Given the description of an element on the screen output the (x, y) to click on. 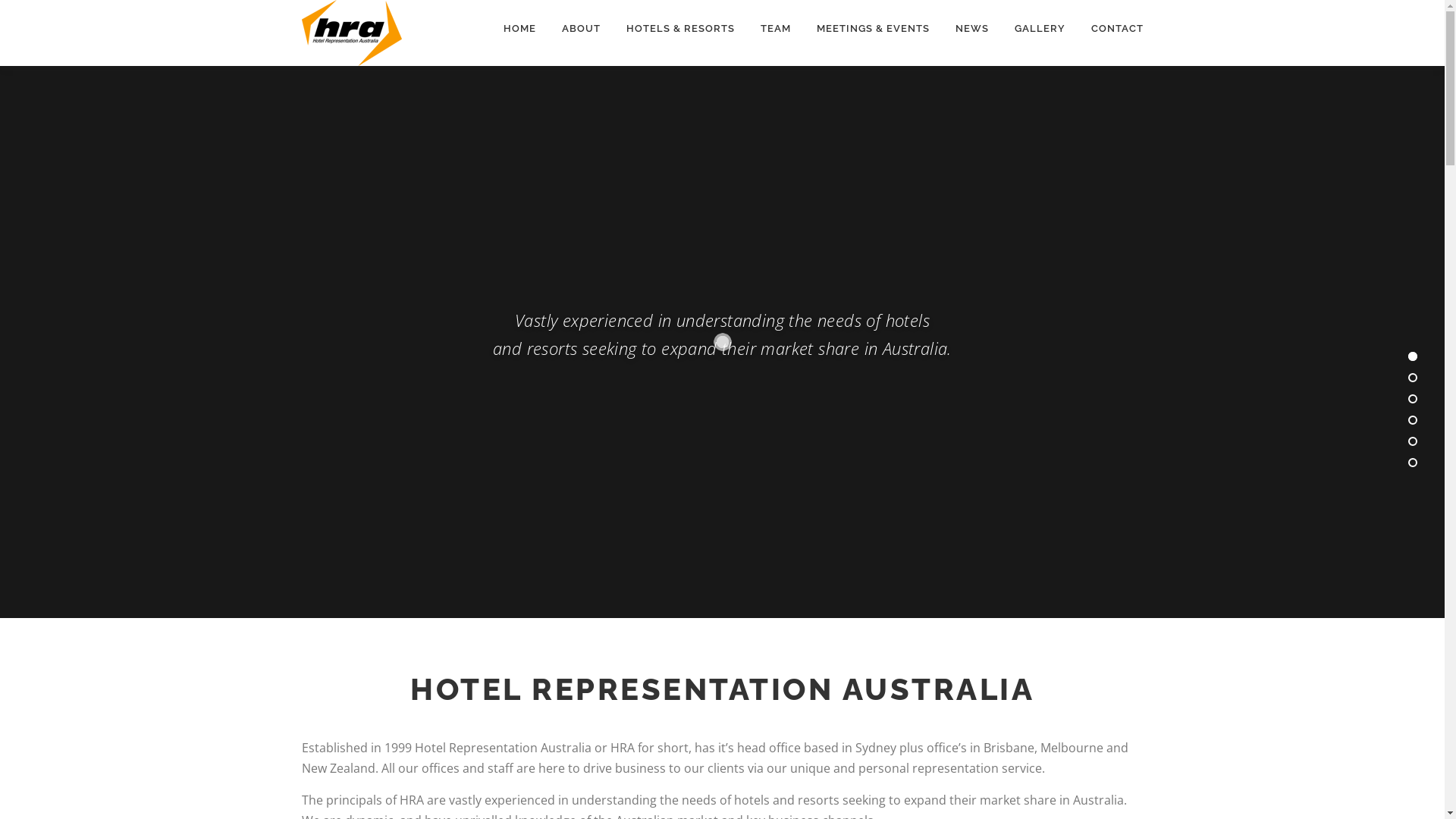
ABOUT Element type: text (581, 28)
HOME Element type: text (518, 28)
CONTACT Element type: text (1110, 28)
MEETINGS & EVENTS Element type: text (872, 28)
HOTELS & RESORTS Element type: text (679, 28)
TEAM Element type: text (775, 28)
GALLERY Element type: text (1039, 28)
NEWS Element type: text (971, 28)
